Given the description of an element on the screen output the (x, y) to click on. 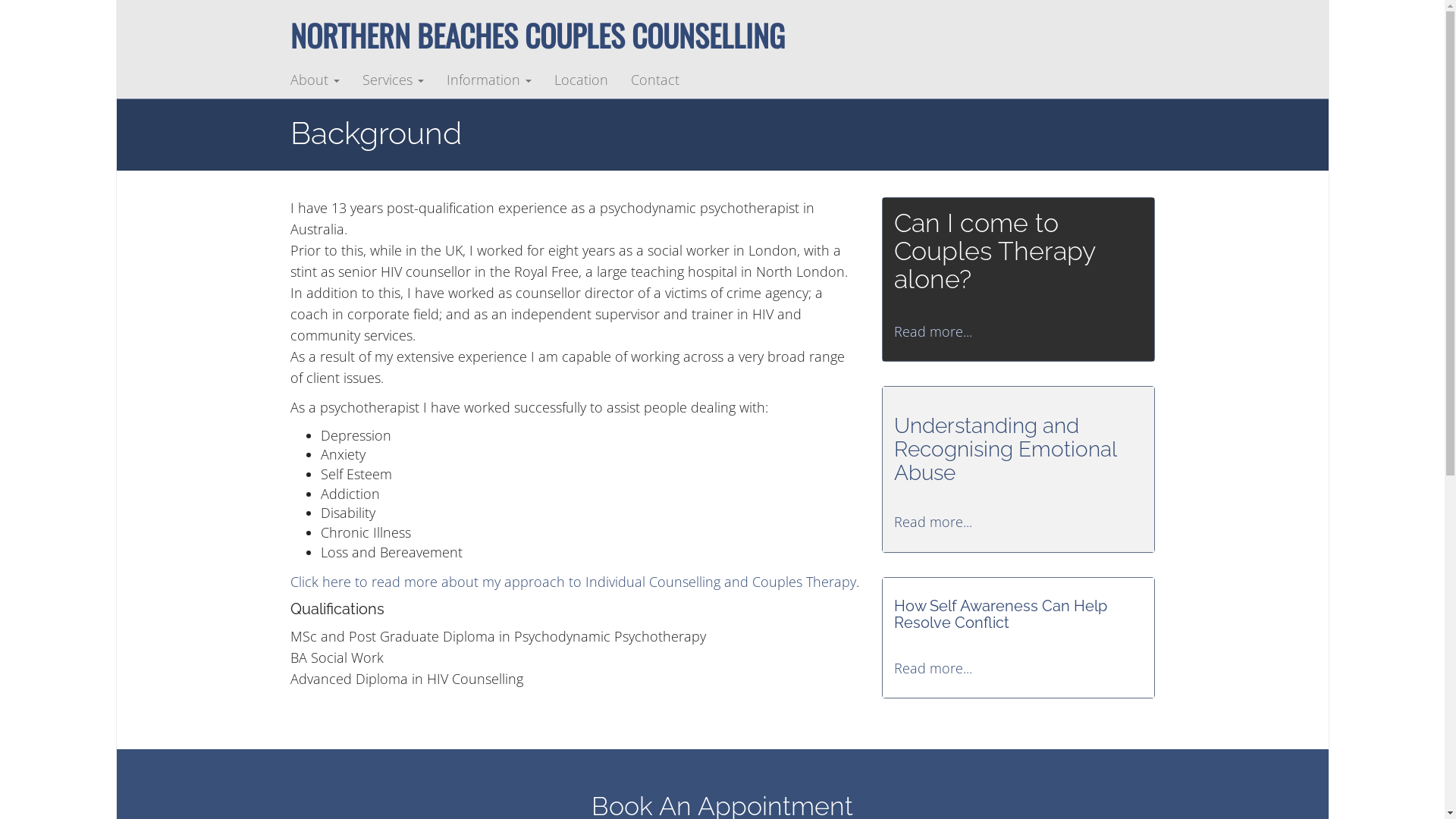
Understanding and Recognising Emotional Abuse

Read more... Element type: text (1017, 472)
About Element type: text (315, 79)
Information Element type: text (488, 79)
Services Element type: text (392, 79)
How Self Awareness Can Help Resolve Conflict

Read more... Element type: text (1017, 637)
NORTHERN BEACHES COUPLES COUNSELLING Element type: text (536, 34)
Contact Element type: text (654, 79)
Skip to content Element type: text (115, 59)
Location Element type: text (580, 79)
NORTHERN BEACHES COUPLES COUNSELLING Element type: text (415, 79)
Can I come to Couples Therapy alone?

Read more... Element type: text (1017, 274)
